Given the description of an element on the screen output the (x, y) to click on. 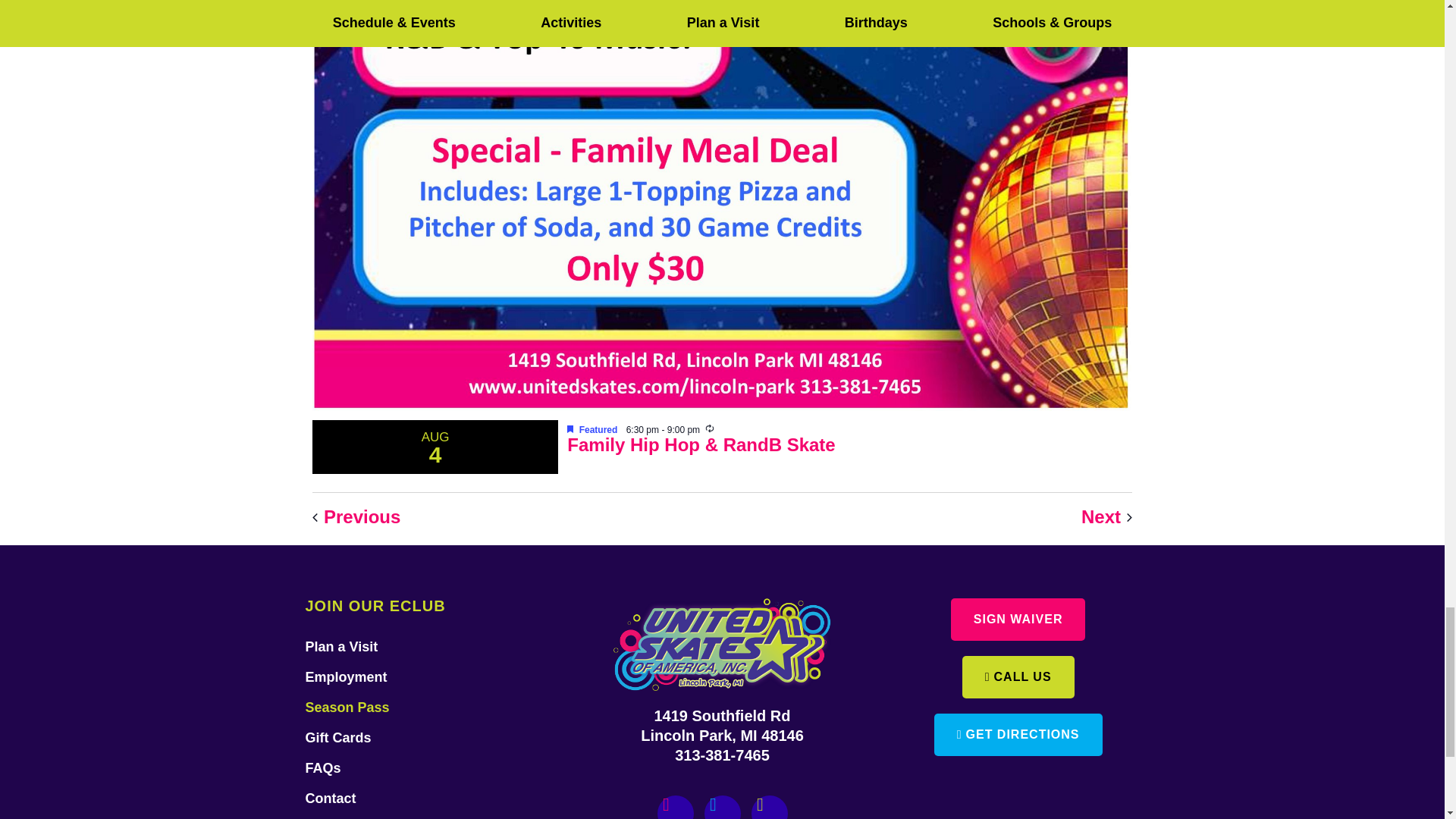
Recurring (709, 428)
